Given the description of an element on the screen output the (x, y) to click on. 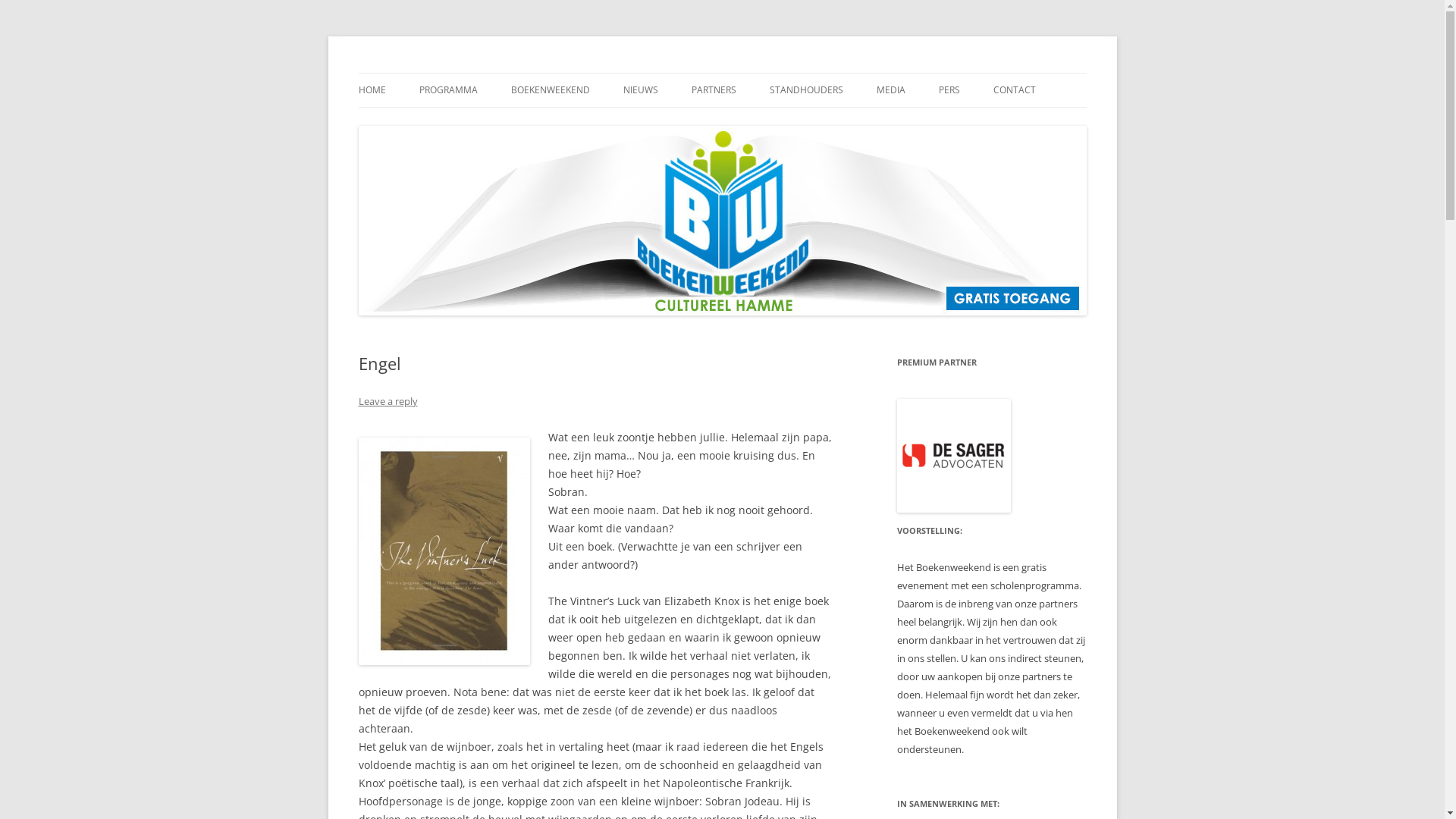
HOME Element type: text (371, 89)
Leave a reply Element type: text (387, 400)
HISTORIEK Element type: text (586, 122)
Skip to content Element type: text (721, 72)
NIEUWS Element type: text (640, 89)
Boekenweekend Hamme Element type: text (479, 72)
PERS Element type: text (949, 89)
STANDHOUDERS Element type: text (805, 89)
PARTNERS Element type: text (713, 89)
MEDIA Element type: text (890, 89)
CONTACT Element type: text (1014, 89)
BOEKENWEEKEND Element type: text (550, 89)
PROGRAMMA Element type: text (447, 89)
